Given the description of an element on the screen output the (x, y) to click on. 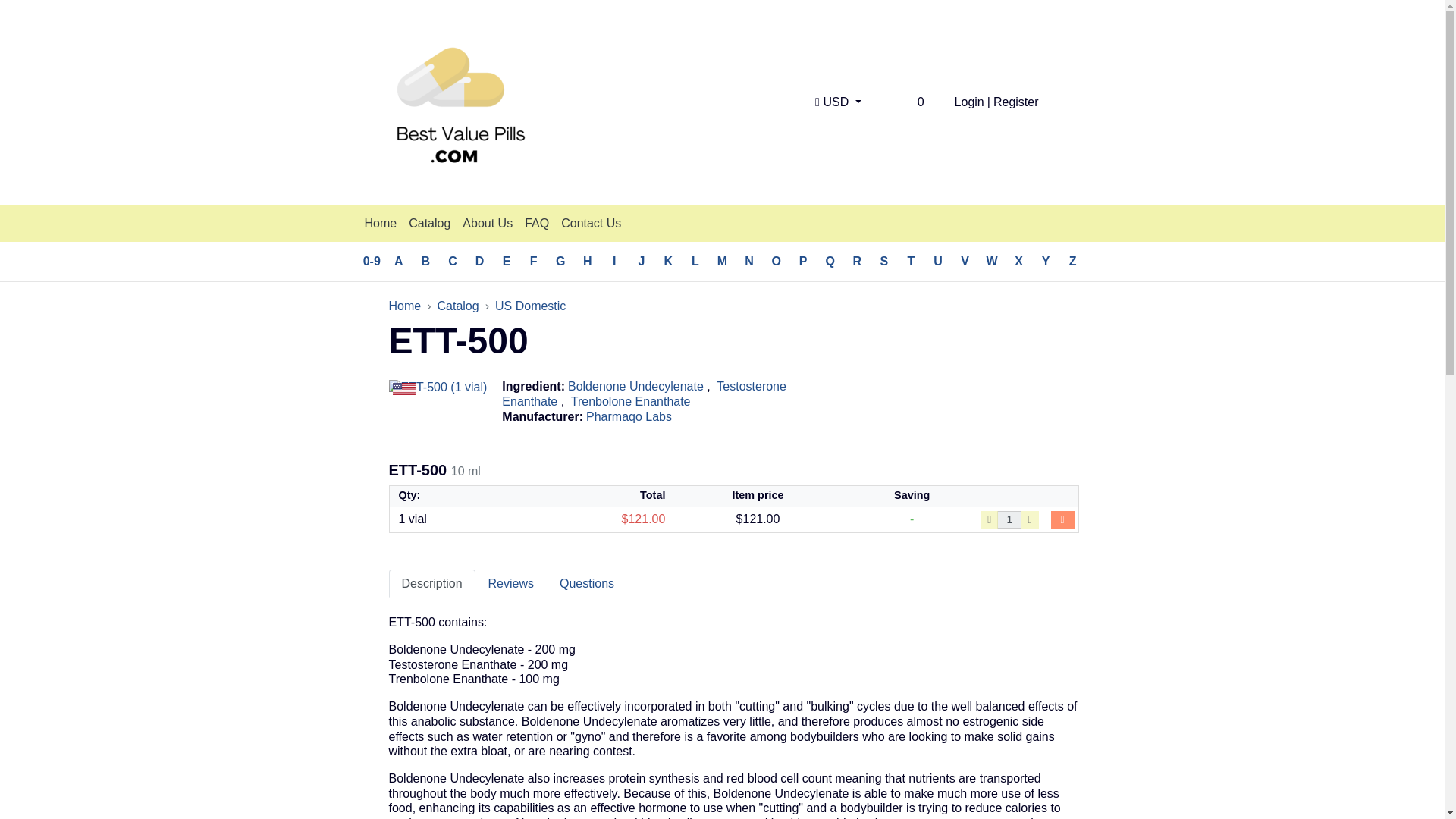
Products 26 (856, 261)
T (911, 261)
Products 68 (722, 261)
K (668, 261)
Products 42 (533, 261)
0-9 (371, 261)
Products 38 (587, 261)
U (938, 261)
B (425, 261)
Products 10 (668, 261)
